Given the description of an element on the screen output the (x, y) to click on. 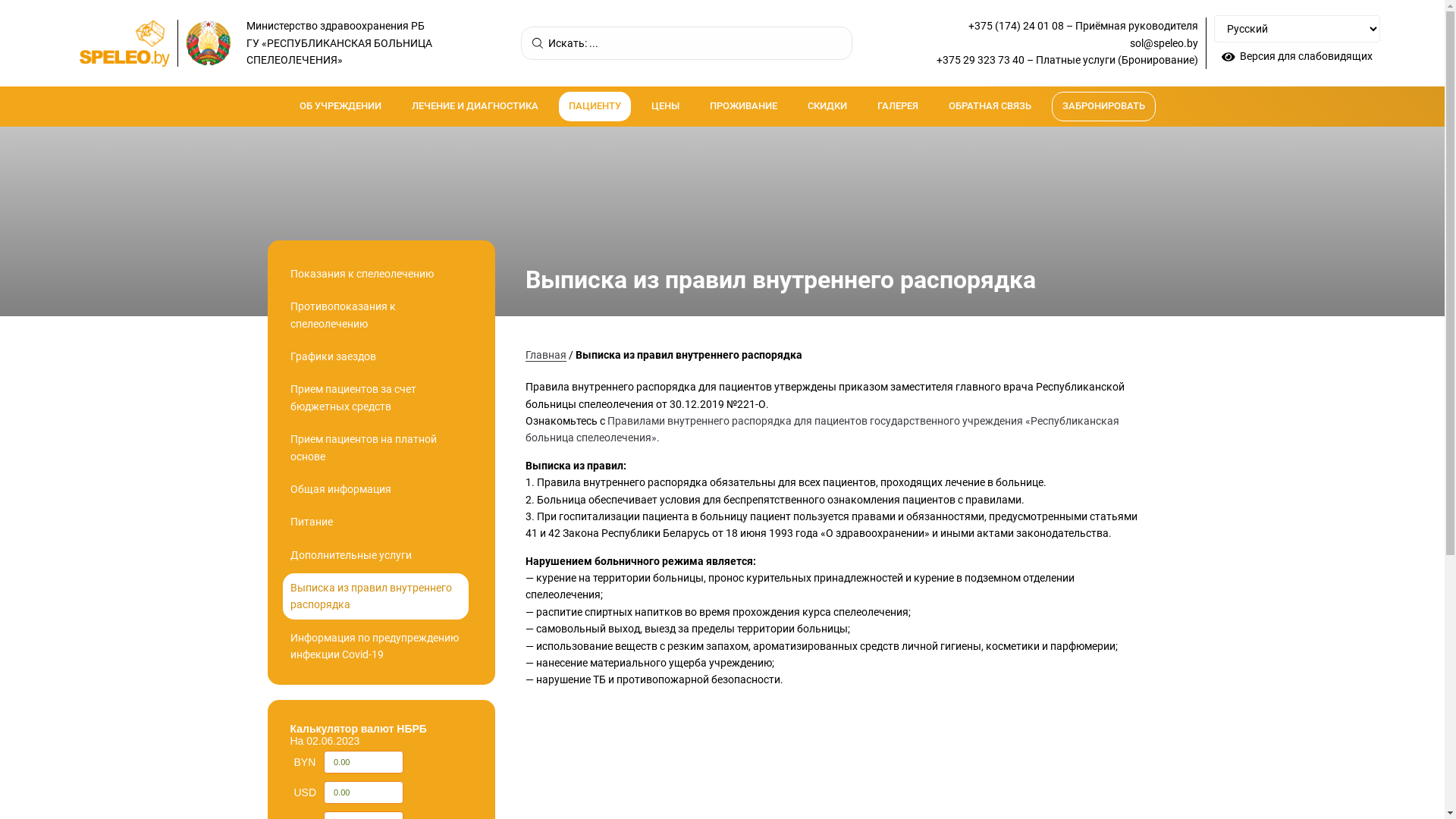
+375 29 323 73 40 Element type: text (980, 59)
+375 (174) 24 01 08 Element type: text (1015, 25)
sol@speleo.by Element type: text (1163, 43)
